Given the description of an element on the screen output the (x, y) to click on. 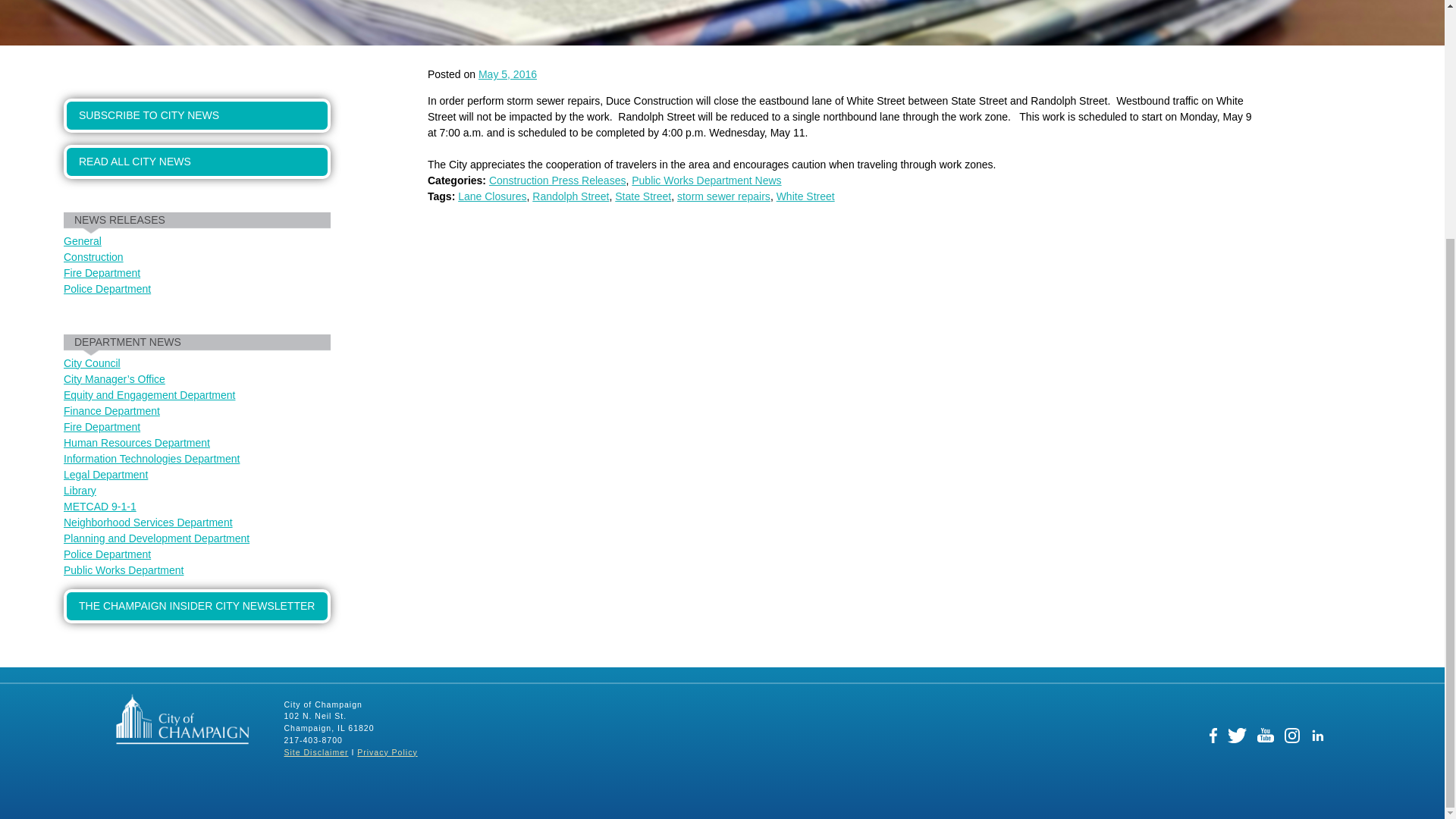
May 5, 2016 (508, 73)
Public Works Department News (705, 180)
Construction Press Releases (557, 180)
Lane Closures (491, 196)
